Given the description of an element on the screen output the (x, y) to click on. 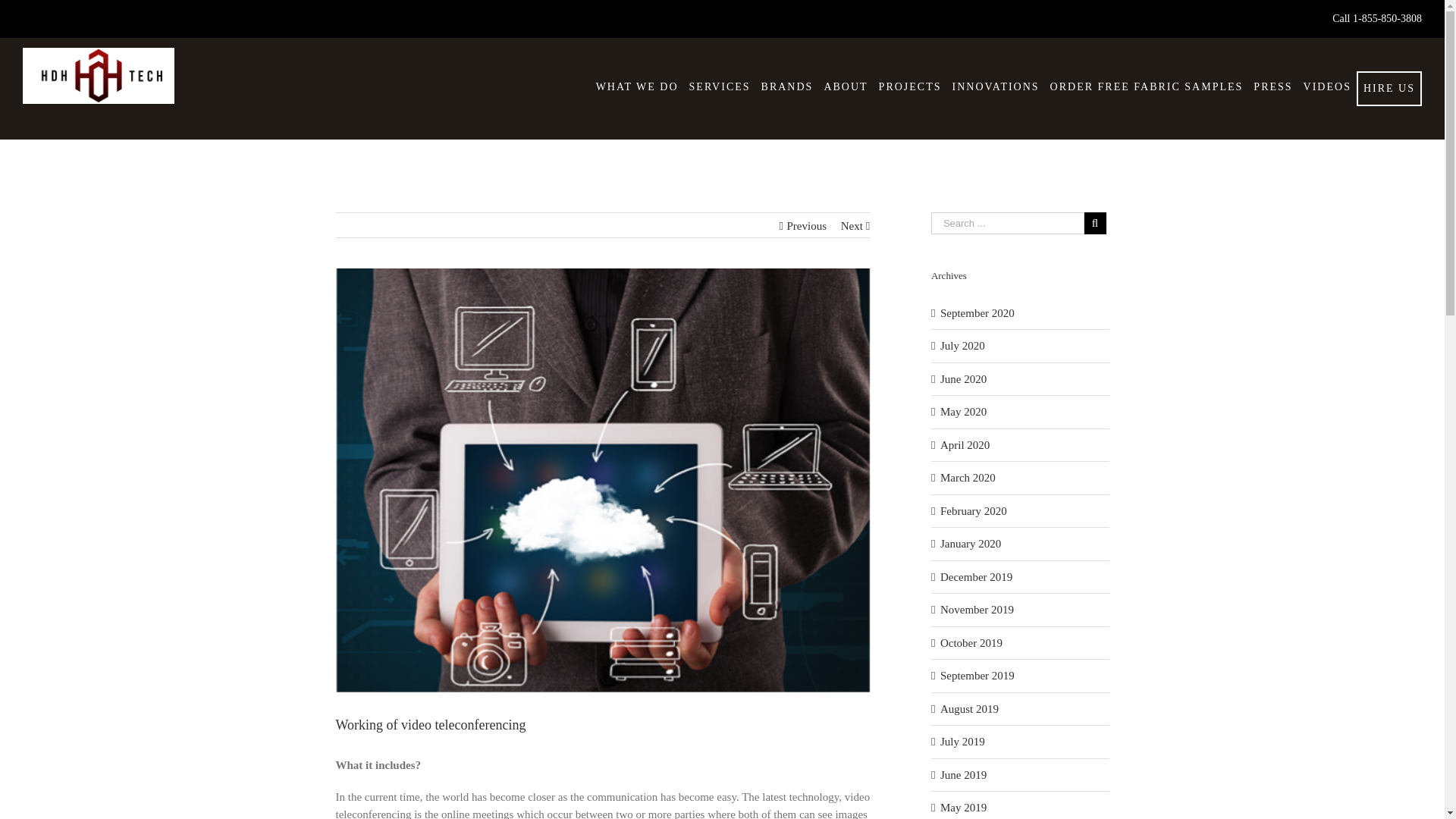
Previous (806, 225)
WHAT WE DO (637, 87)
July 2020 (962, 345)
ABOUT (845, 87)
VIDEOS (1327, 87)
INNOVATIONS (996, 87)
BRANDS (786, 87)
PRESS (1272, 87)
ORDER FREE FABRIC SAMPLES (1147, 87)
PROJECTS (910, 87)
1-855-850-3808 (1387, 18)
SERVICES (719, 87)
HIRE US (1389, 88)
June 2020 (963, 378)
September 2020 (977, 312)
